Given the description of an element on the screen output the (x, y) to click on. 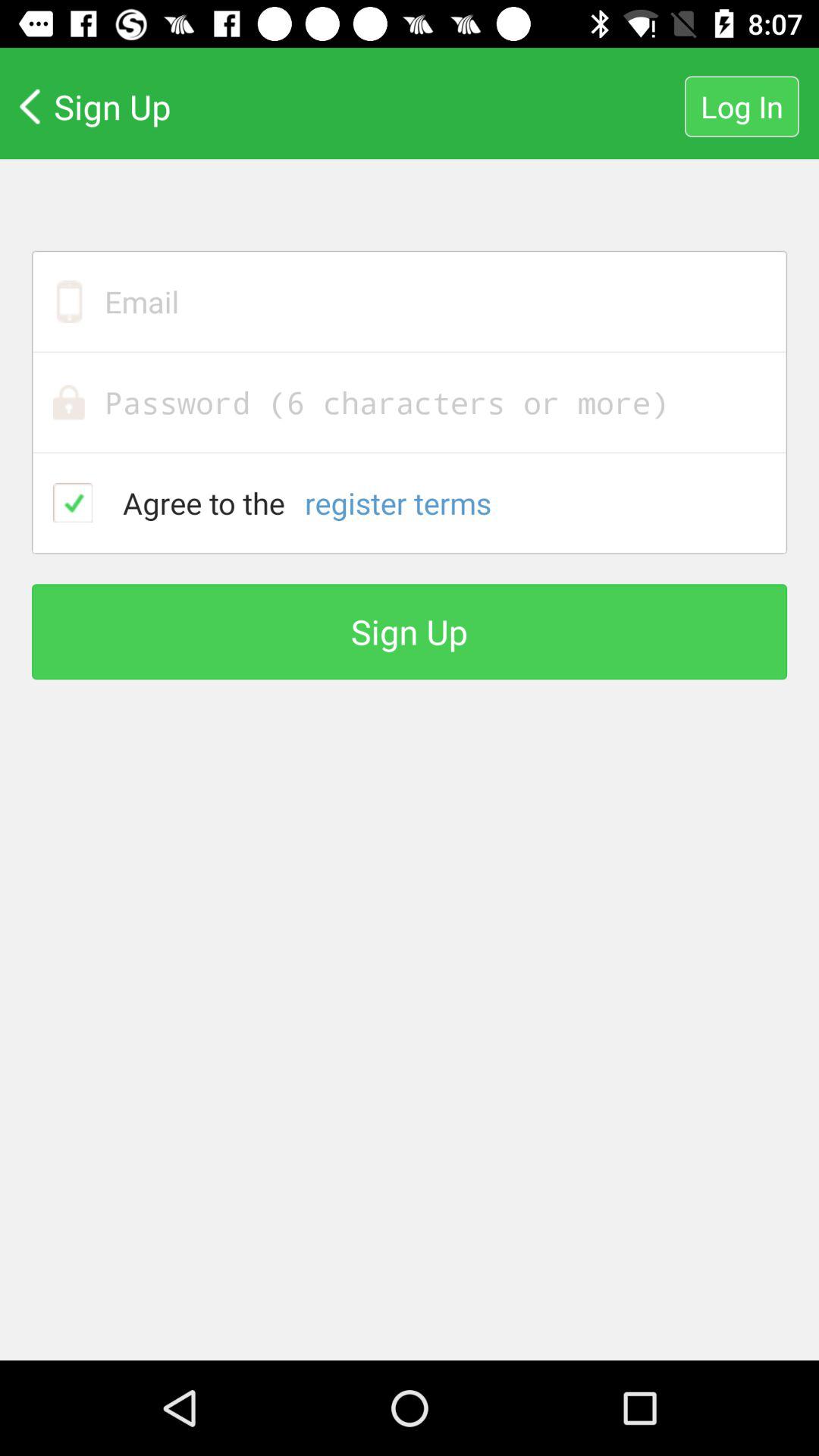
click the icon next to the sign up icon (741, 106)
